Given the description of an element on the screen output the (x, y) to click on. 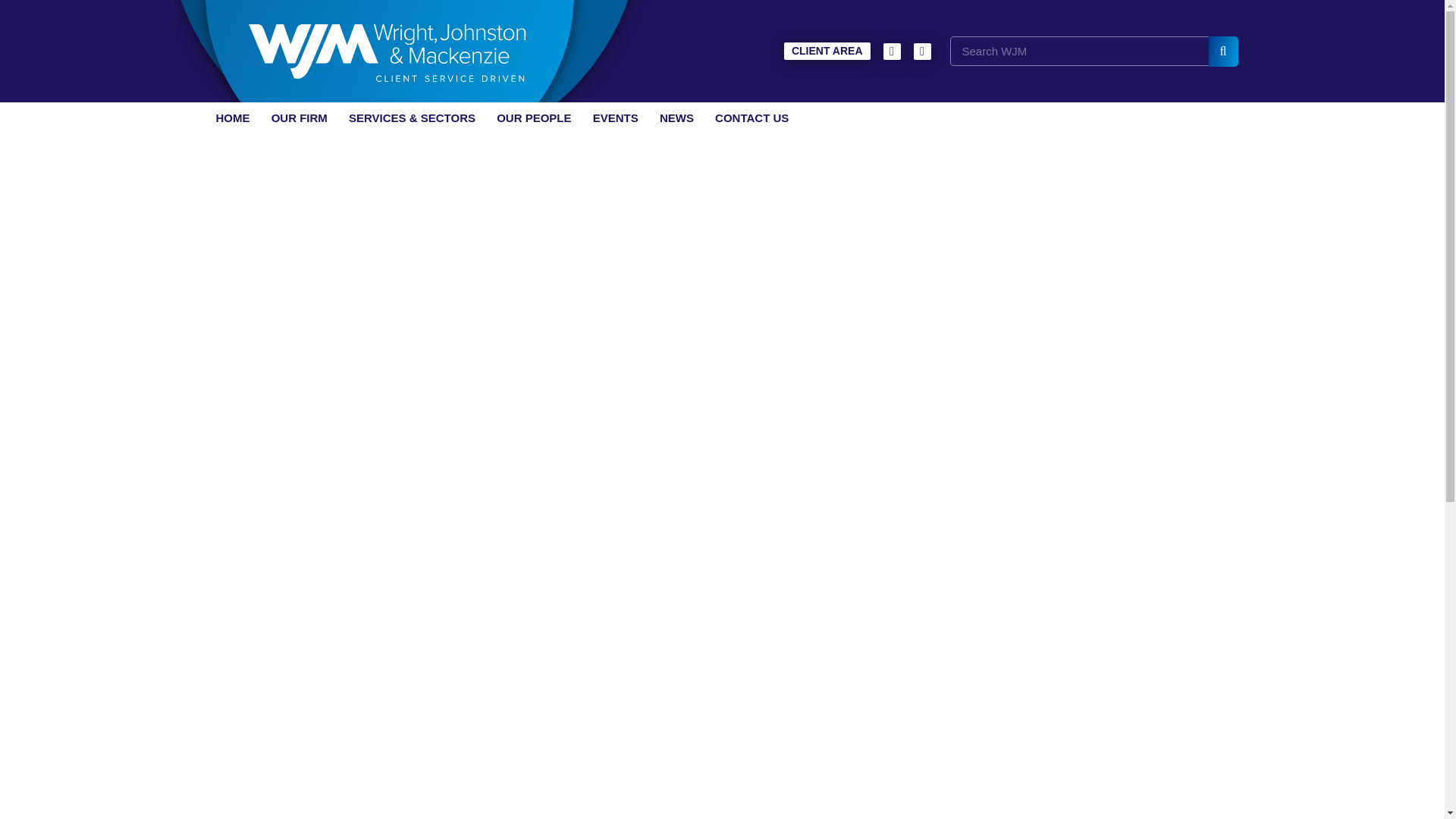
Our People (533, 118)
CLIENT AREA (827, 50)
OUR PEOPLE (533, 118)
Events (615, 118)
OUR FIRM (299, 118)
EVENTS (615, 118)
WJM Twitter (890, 50)
Contact Us (751, 118)
Our Firm (299, 118)
WJM LinkedIn (921, 50)
